Given the description of an element on the screen output the (x, y) to click on. 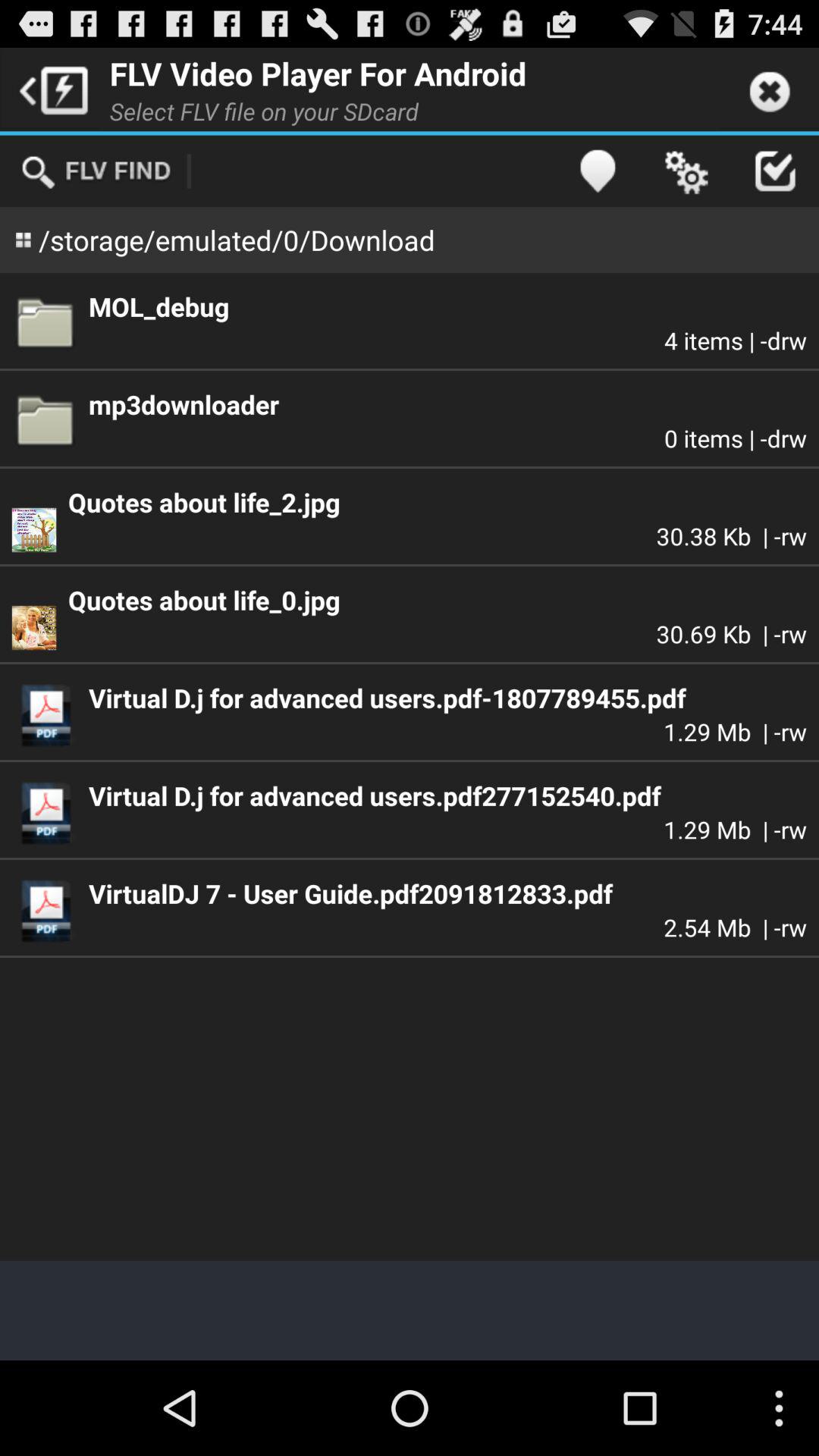
swipe to the mp3downloader item (447, 404)
